Given the description of an element on the screen output the (x, y) to click on. 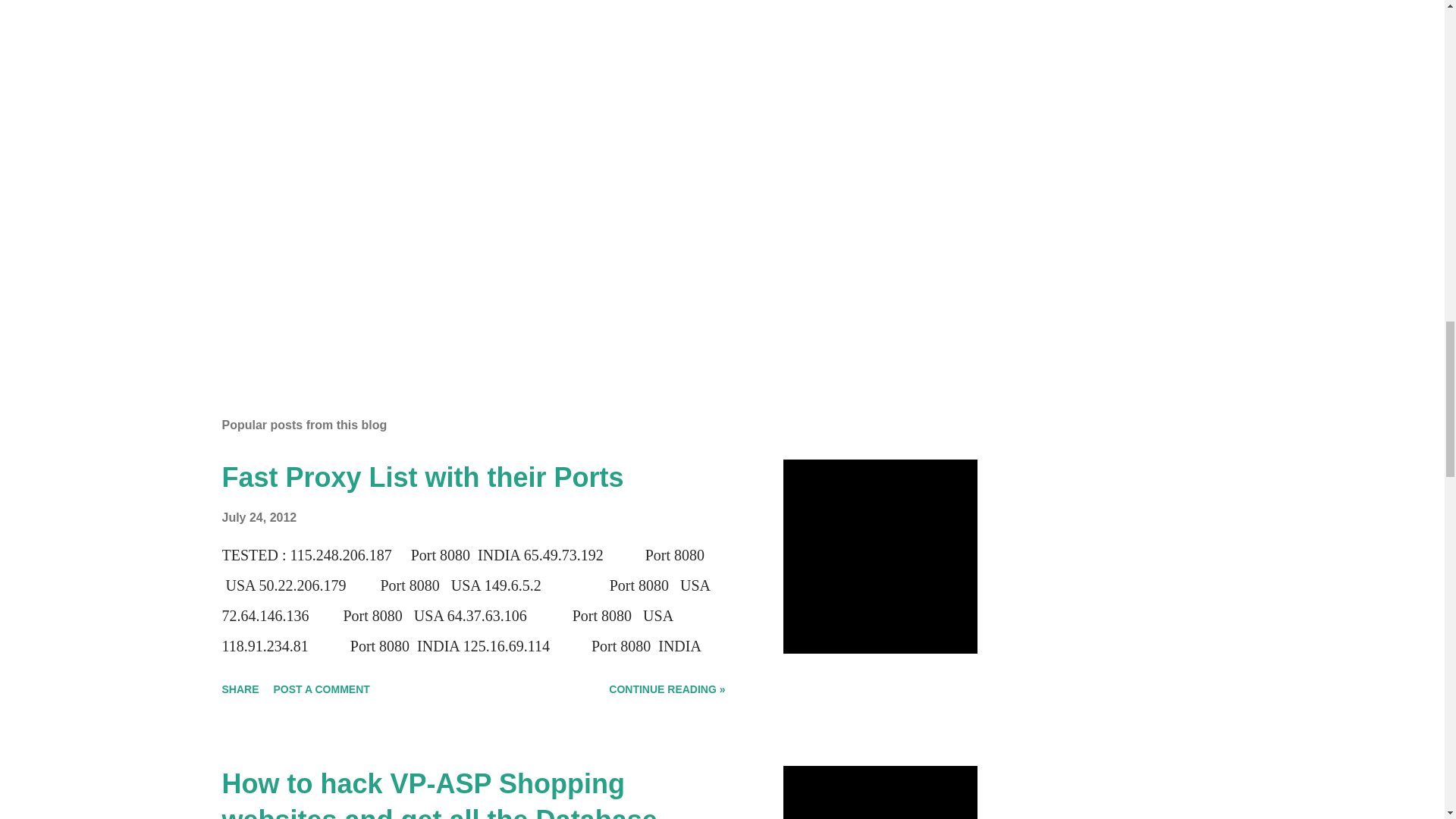
Fast Proxy List with their Ports (422, 477)
July 24, 2012 (259, 517)
POST A COMMENT (321, 689)
SHARE (239, 689)
permanent link (259, 517)
Advertisement (477, 229)
